Given the description of an element on the screen output the (x, y) to click on. 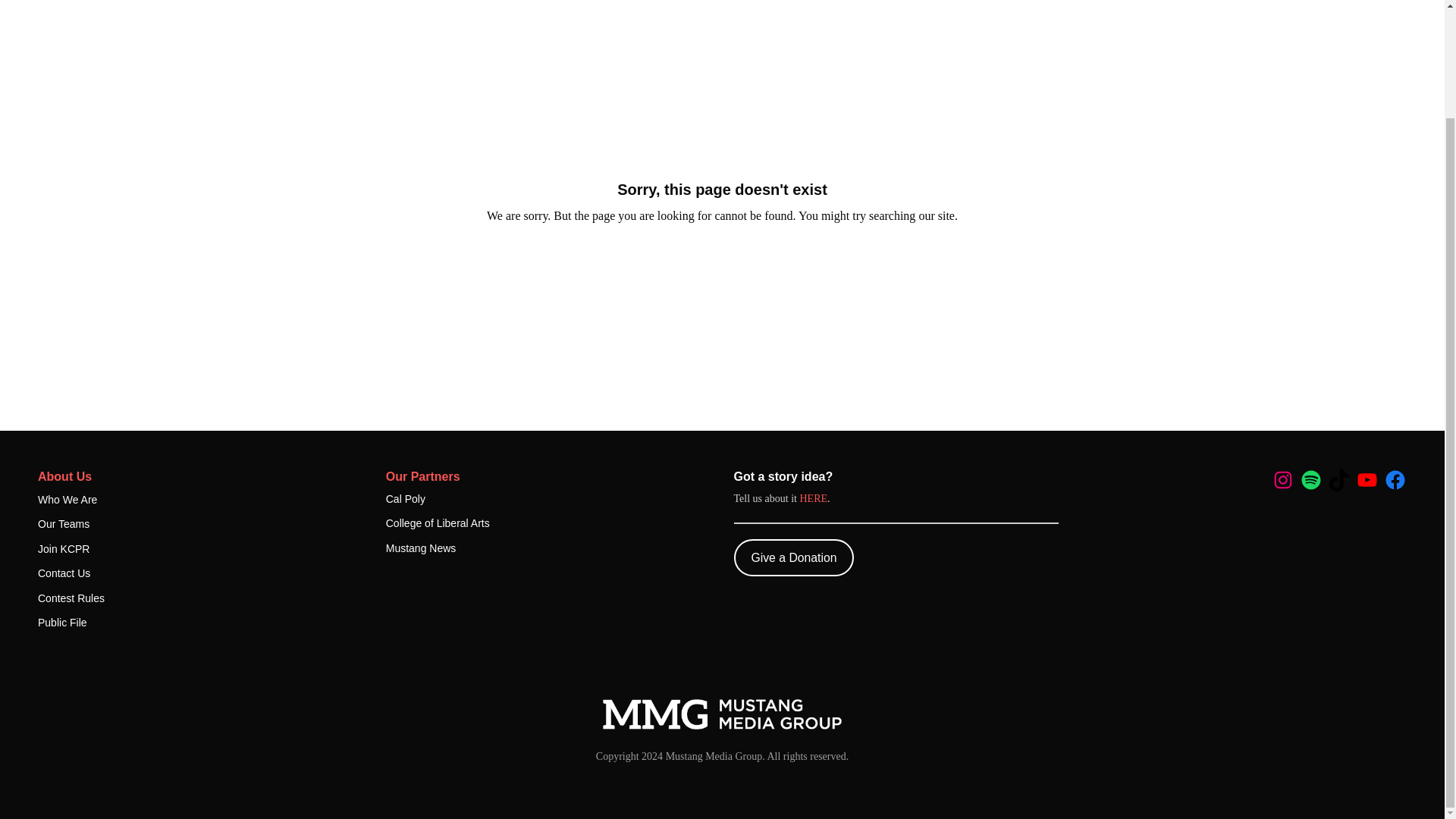
KCPR (722, 714)
